Given the description of an element on the screen output the (x, y) to click on. 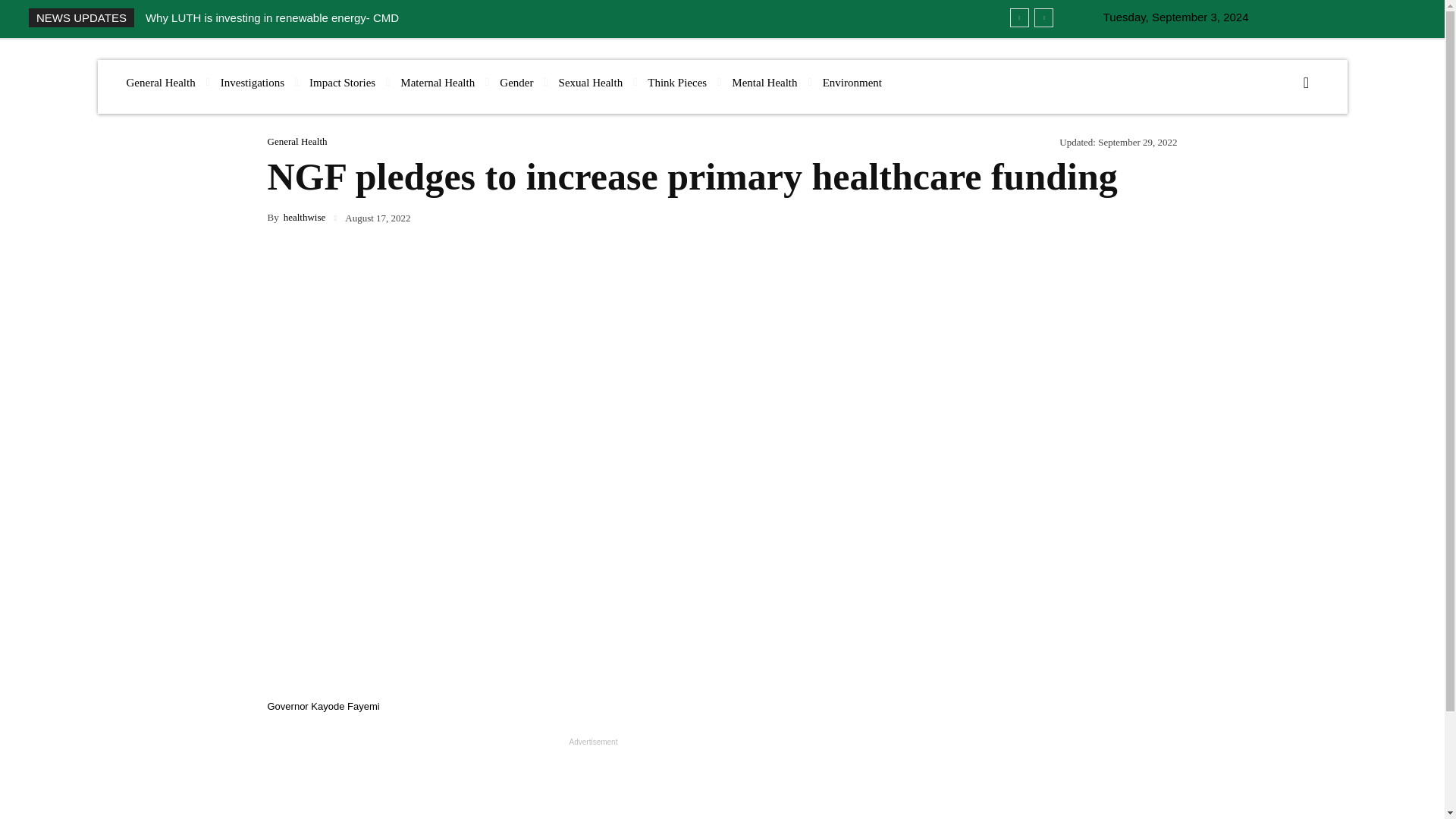
Why LUTH is investing in renewable energy- CMD (271, 17)
General Health (160, 82)
Why LUTH is investing in renewable energy- CMD (271, 17)
Investigations (252, 82)
